Given the description of an element on the screen output the (x, y) to click on. 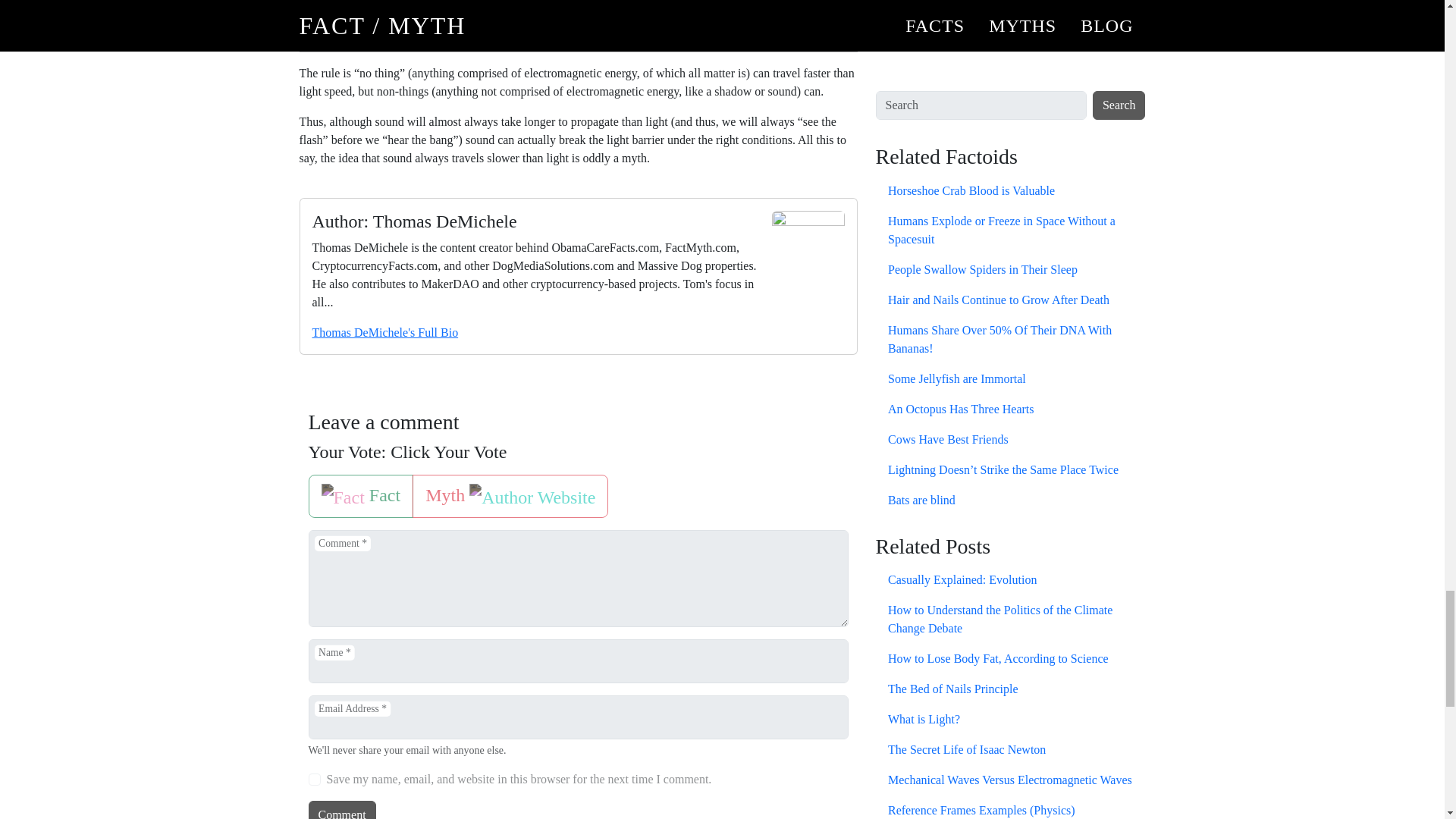
fact (312, 479)
myth (312, 479)
Thomas DeMichele's Full Bio (385, 332)
Comment (341, 809)
yes (313, 779)
